Given the description of an element on the screen output the (x, y) to click on. 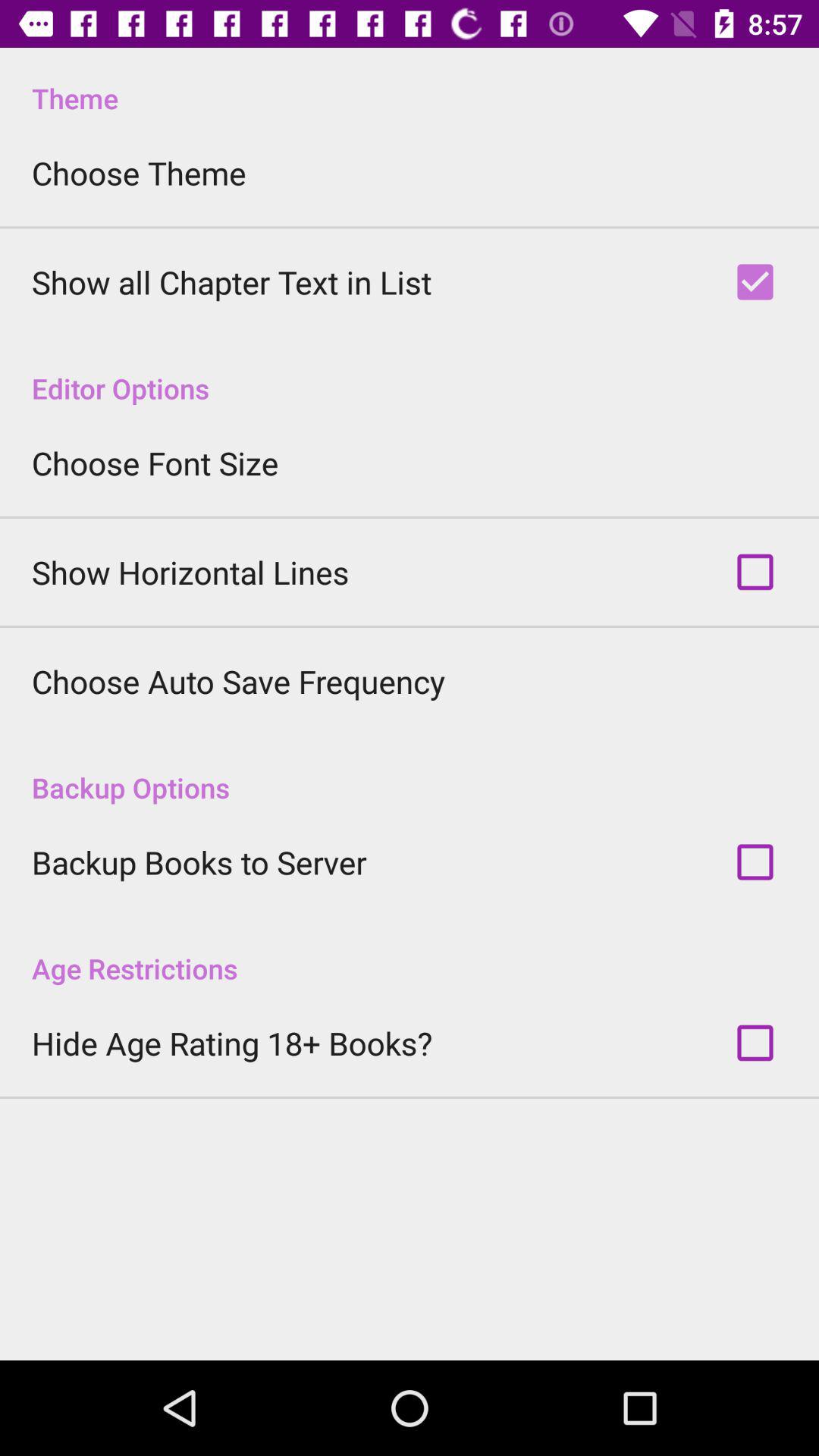
click the app above editor options item (231, 281)
